Given the description of an element on the screen output the (x, y) to click on. 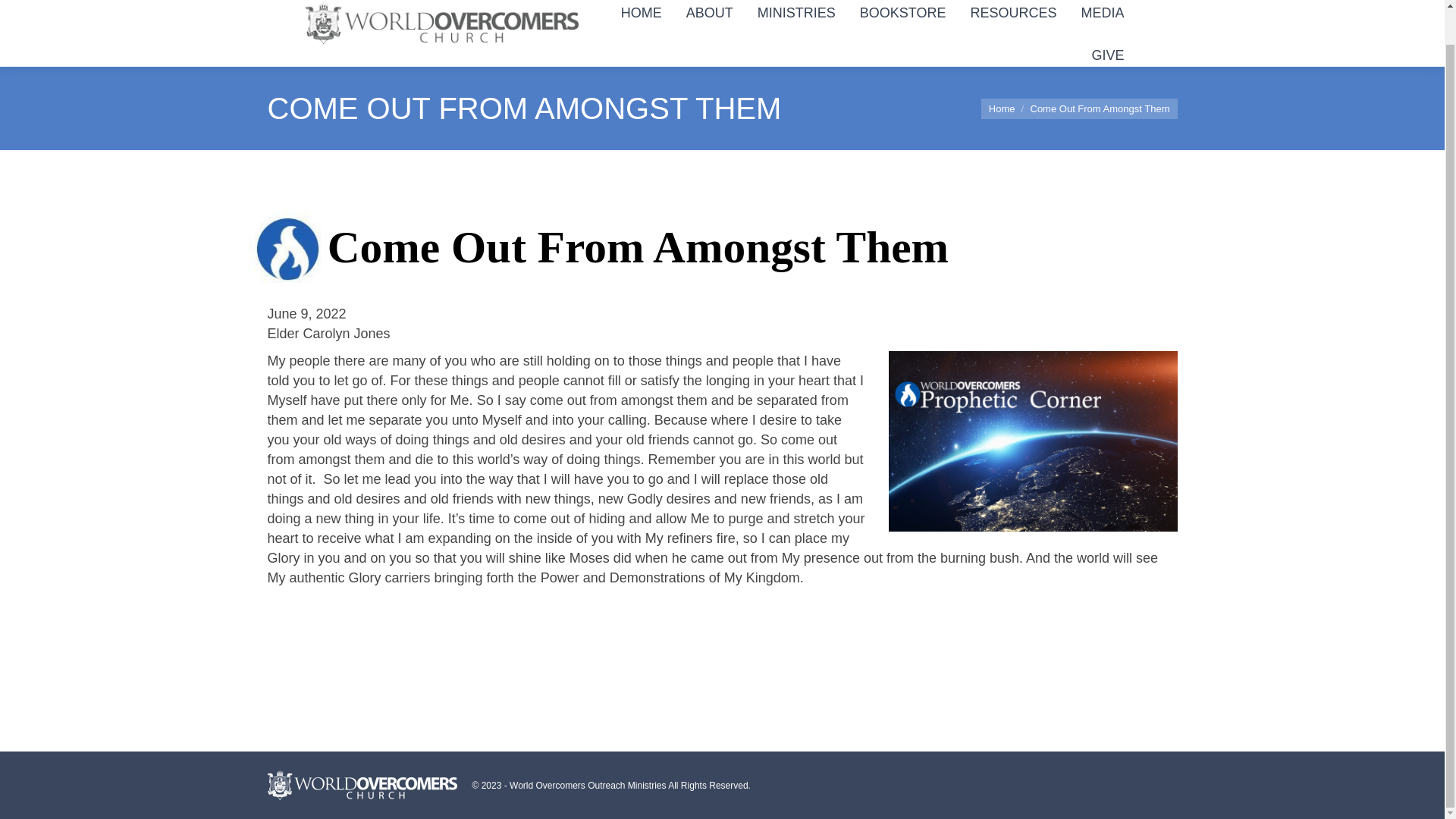
MINISTRIES (796, 12)
prophetic-icon (287, 251)
ABOUT (709, 12)
RESOURCES (1012, 12)
HOME (641, 12)
BOOKSTORE (902, 12)
Home (1001, 107)
